Given the description of an element on the screen output the (x, y) to click on. 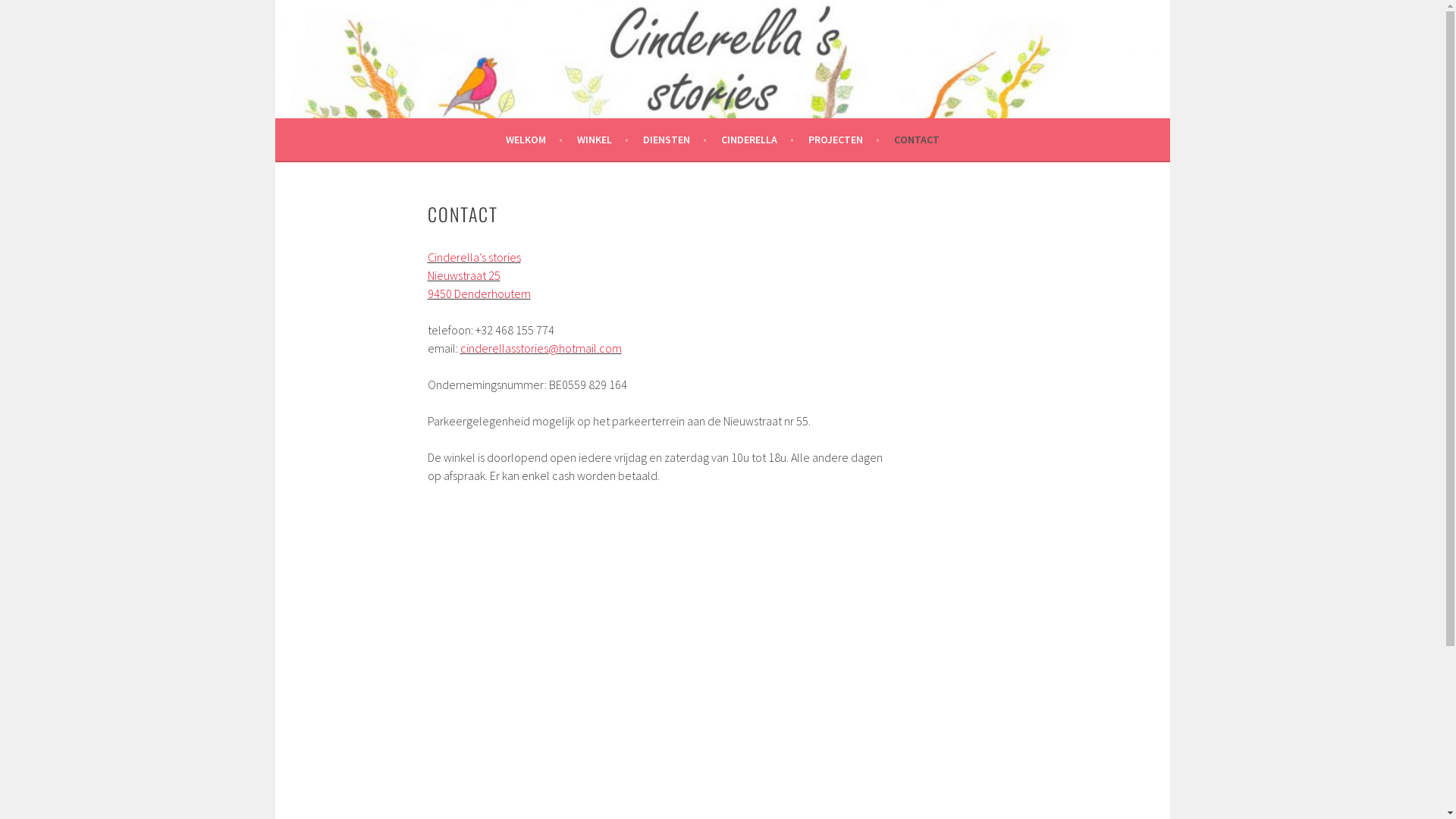
Nieuwstraat 25 Element type: text (463, 274)
Skip to content Element type: text (274, 0)
WELKOM Element type: text (533, 139)
CINDERELLA Element type: text (756, 139)
PROJECTEN Element type: text (843, 139)
CONTACT Element type: text (915, 139)
9450 Denderhoutem Element type: text (478, 293)
DIENSTEN Element type: text (674, 139)
cinderellasstories@hotmail.com Element type: text (540, 347)
WINKEL Element type: text (601, 139)
